Given the description of an element on the screen output the (x, y) to click on. 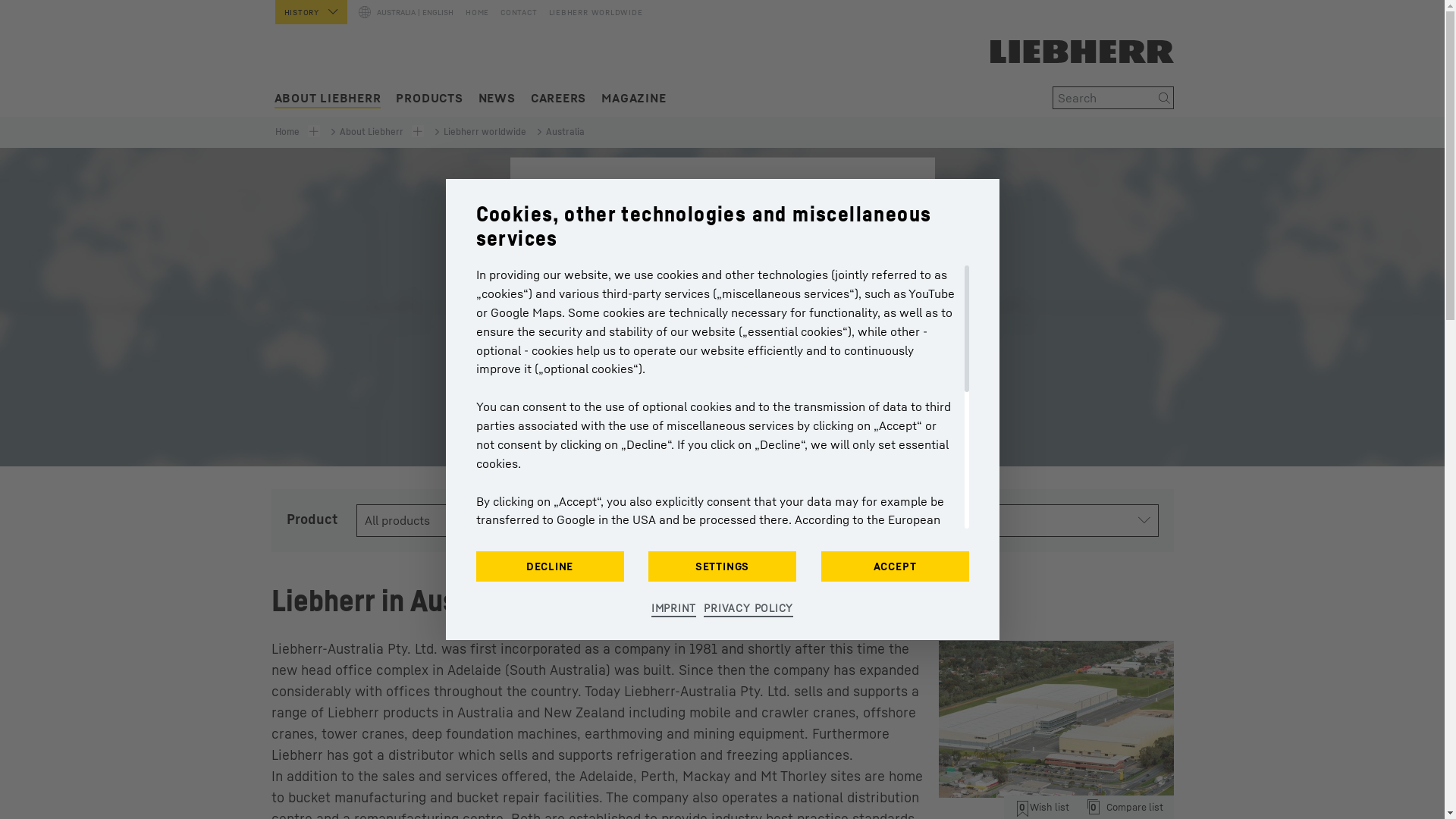
Australia Element type: text (559, 131)
ABOUT LIEBHERR Element type: text (327, 97)
CONTACT Element type: text (512, 9)
About Liebherr Element type: text (367, 131)
IMPRINT Element type: text (673, 608)
Data Protection Declaration Element type: text (802, 498)
NEWS Element type: text (496, 97)
DECLINE Element type: text (550, 566)
SETTINGS Element type: text (722, 566)
HOME Element type: text (475, 9)
AUSTRALIA | ENGLISH Element type: text (404, 12)
PRODUCTS Element type: text (428, 97)
CAREERS Element type: text (558, 97)
Privacy Policy Element type: text (605, 511)
Search Element type: hover (1164, 97)
LIEBHERR WORLDWIDE Element type: text (590, 9)
MAGAZINE Element type: text (633, 97)
ACCEPT Element type: text (722, 383)
PRIVACY POLICY Element type: text (748, 608)
Liebherr worldwide Element type: text (480, 131)
settings Element type: text (556, 498)
Home Element type: text (287, 131)
ACCEPT Element type: text (894, 566)
